Given the description of an element on the screen output the (x, y) to click on. 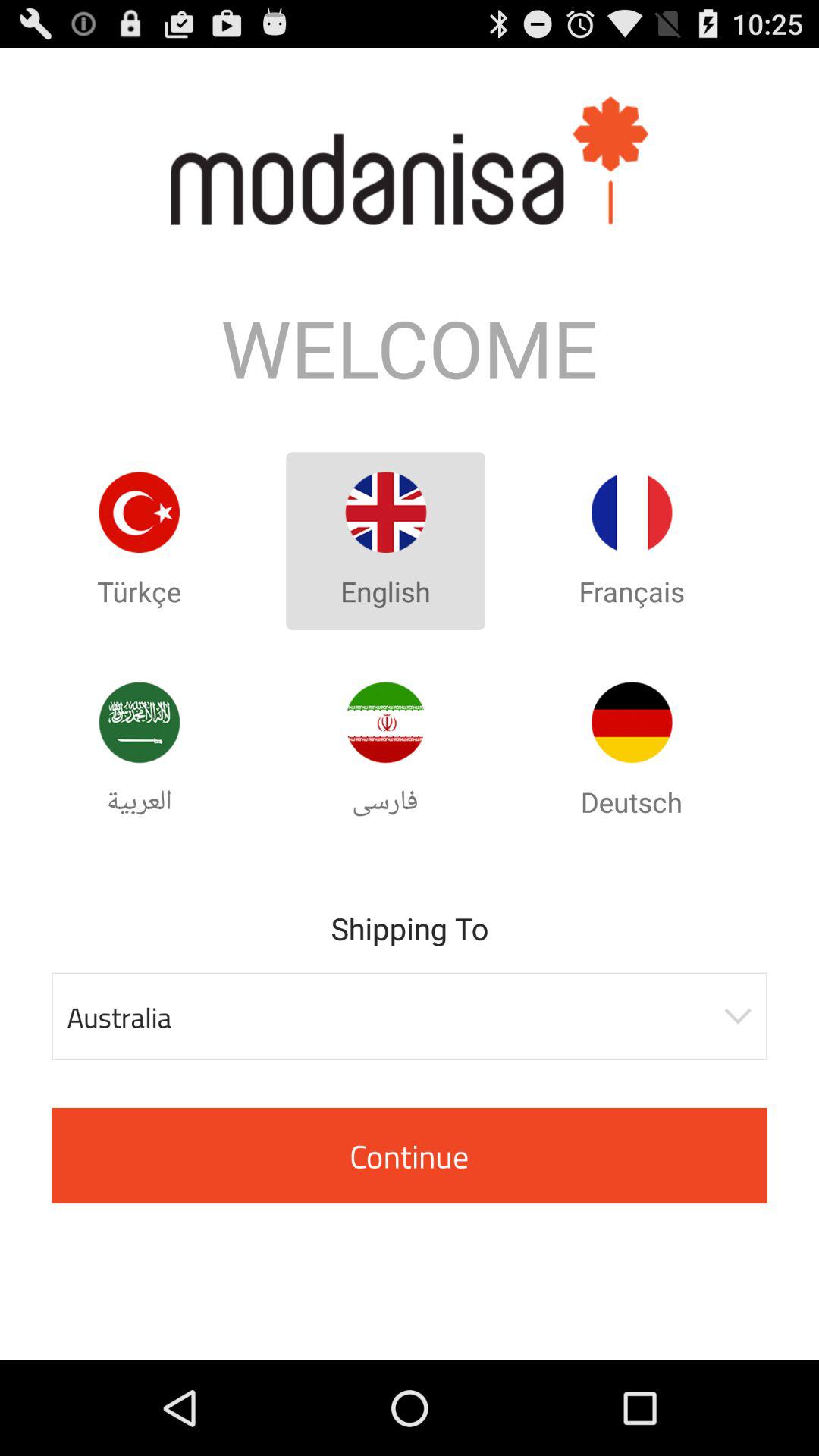
language button (385, 722)
